Given the description of an element on the screen output the (x, y) to click on. 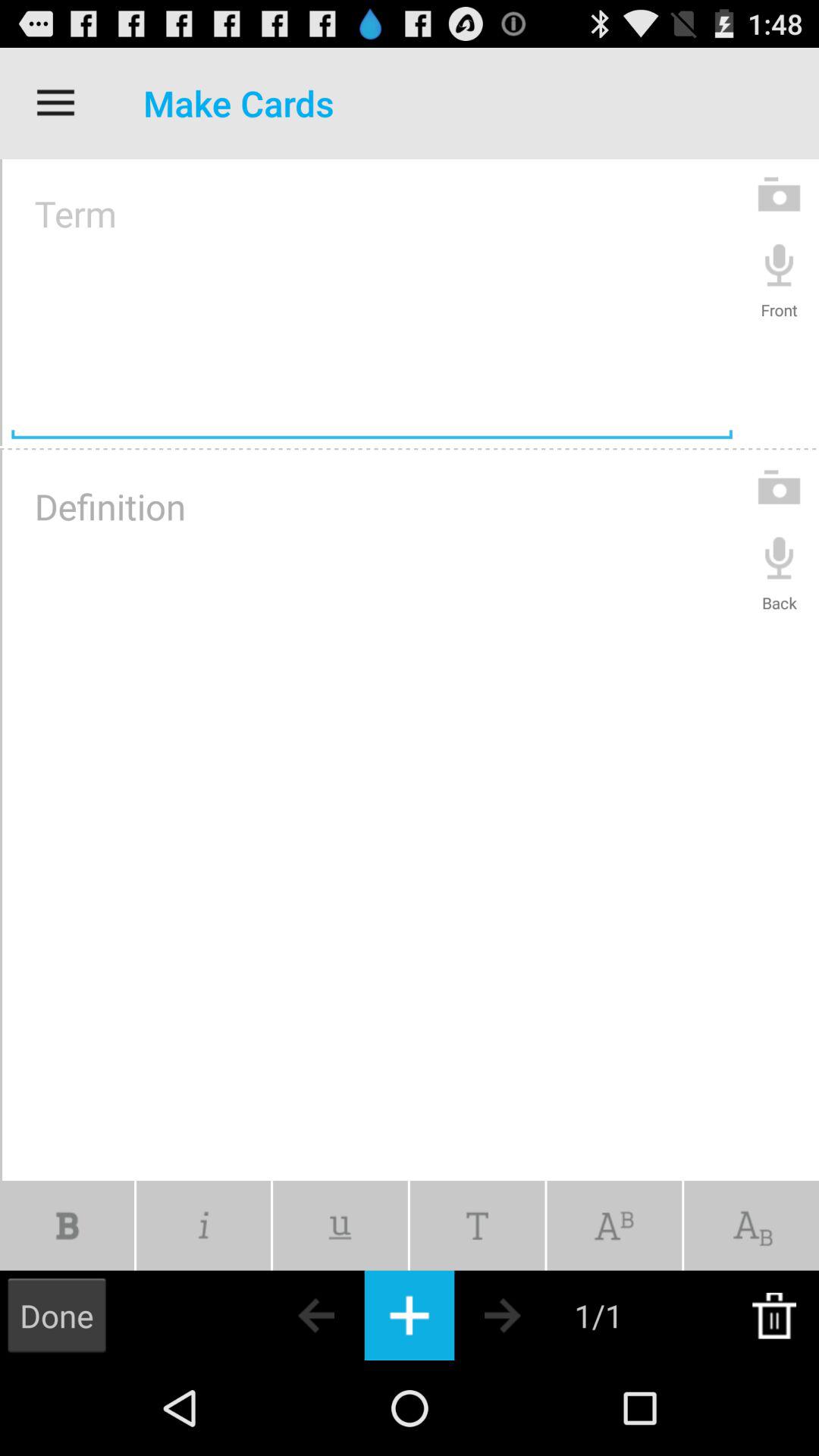
tap the item to the left of the 1/1 item (529, 1315)
